Given the description of an element on the screen output the (x, y) to click on. 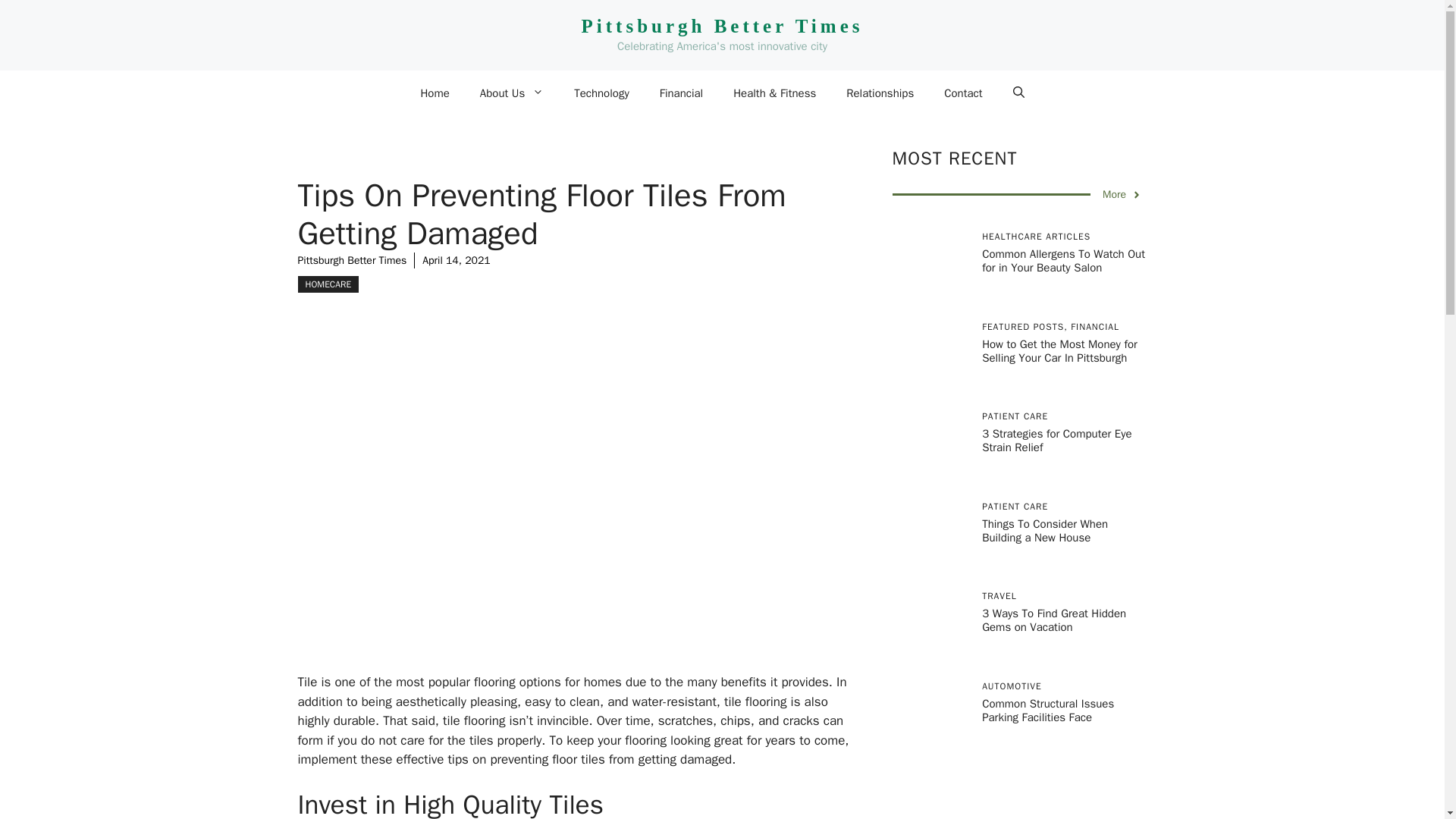
HOMECARE (327, 284)
Common Allergens To Watch Out for in Your Beauty Salon (1062, 260)
How to Get the Most Money for Selling Your Car In Pittsburgh (1059, 350)
Relationships (879, 92)
3 Strategies for Computer Eye Strain Relief (1056, 440)
Home (434, 92)
Pittsburgh Better Times (721, 25)
Things To Consider When Building a New House (1044, 530)
About Us (511, 92)
Contact (962, 92)
